Given the description of an element on the screen output the (x, y) to click on. 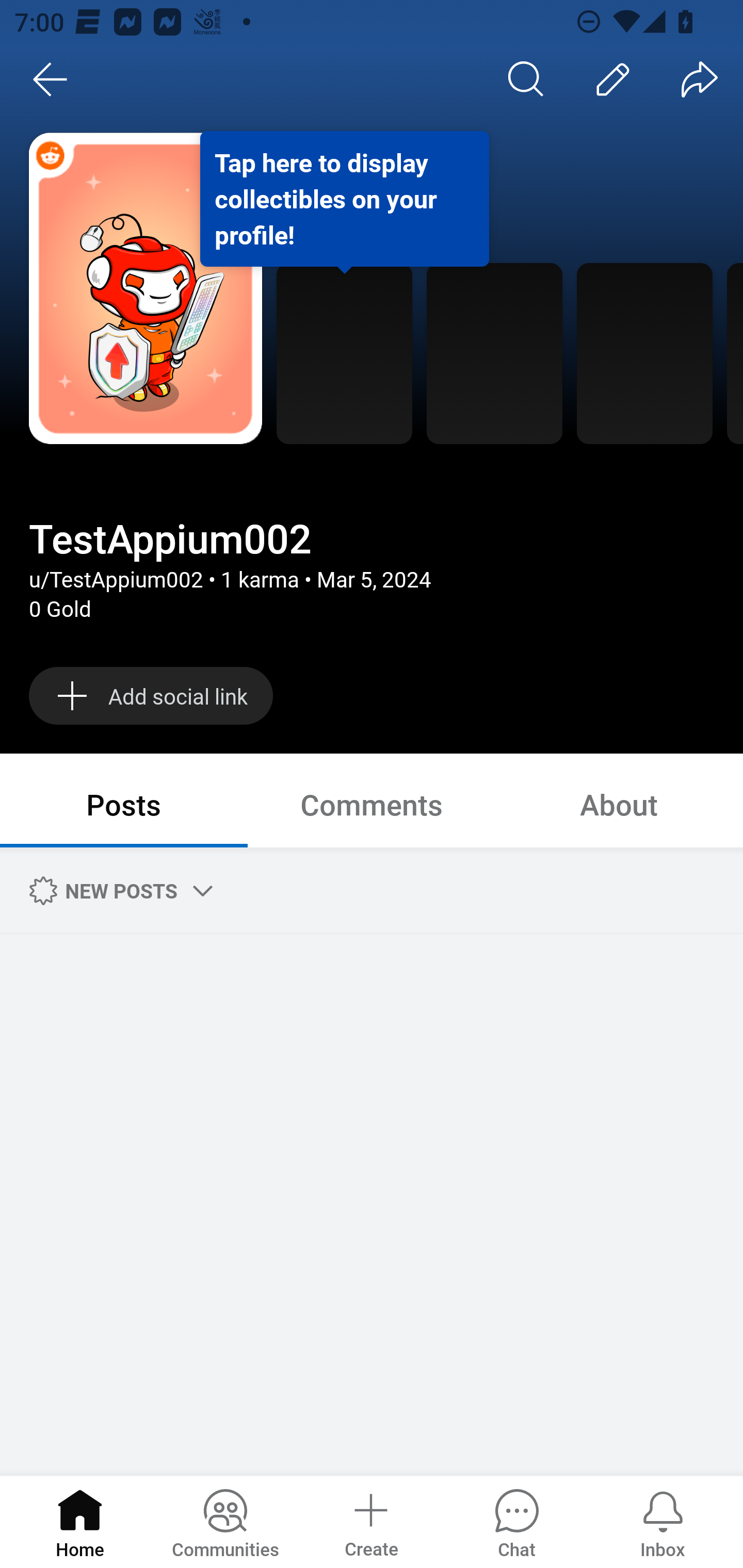
Back (50, 79)
Search profile (525, 79)
Edit (612, 79)
Share TestAppium002 profile (699, 79)
Add social link (150, 695)
Comments (371, 803)
About (619, 803)
NEW POSTS Sort by New posts (117, 890)
Home (80, 1520)
Communities (225, 1520)
Create a post Create (370, 1520)
Chat (516, 1520)
Inbox (662, 1520)
